Given the description of an element on the screen output the (x, y) to click on. 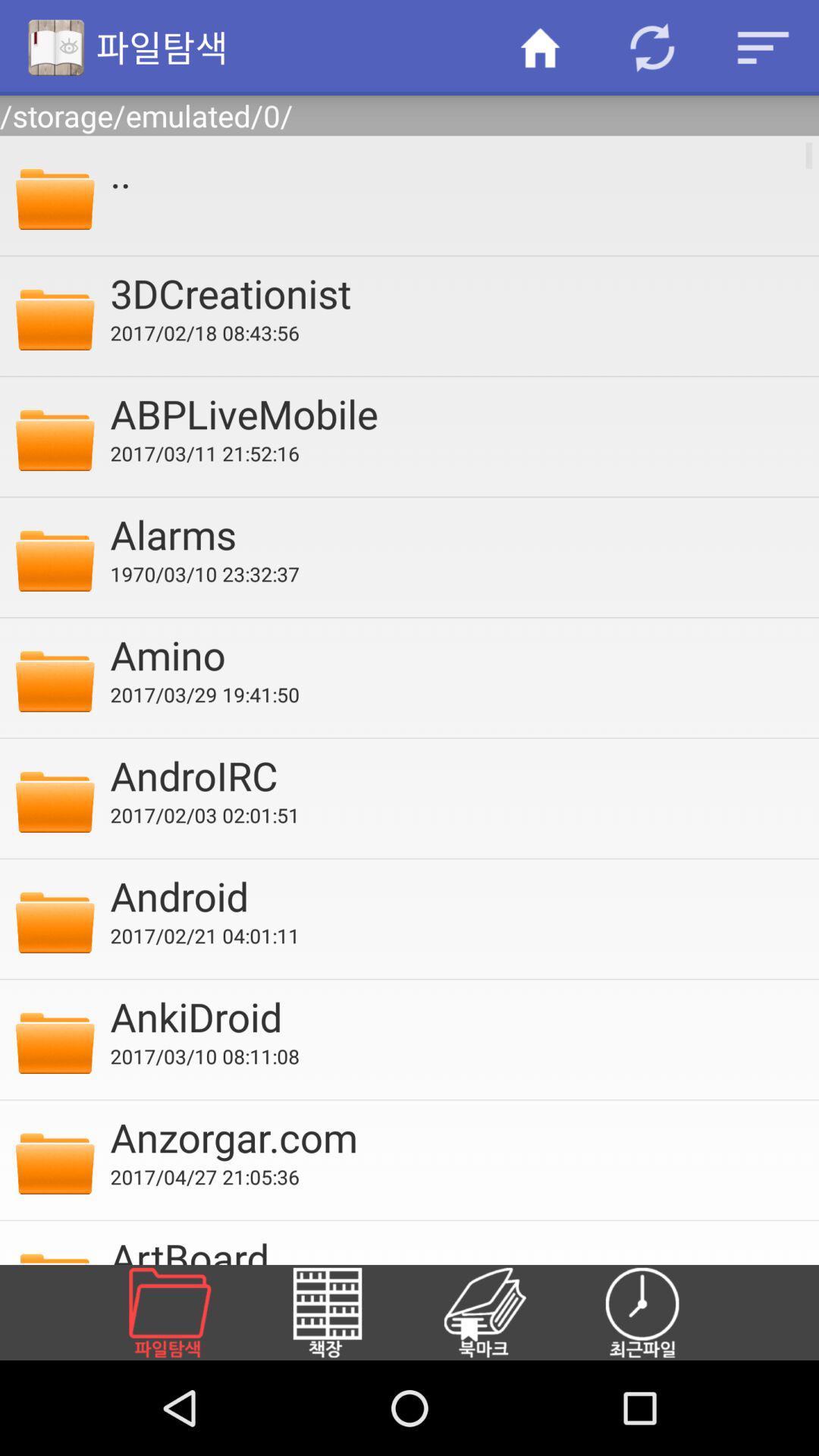
scroll to the androirc (454, 775)
